Given the description of an element on the screen output the (x, y) to click on. 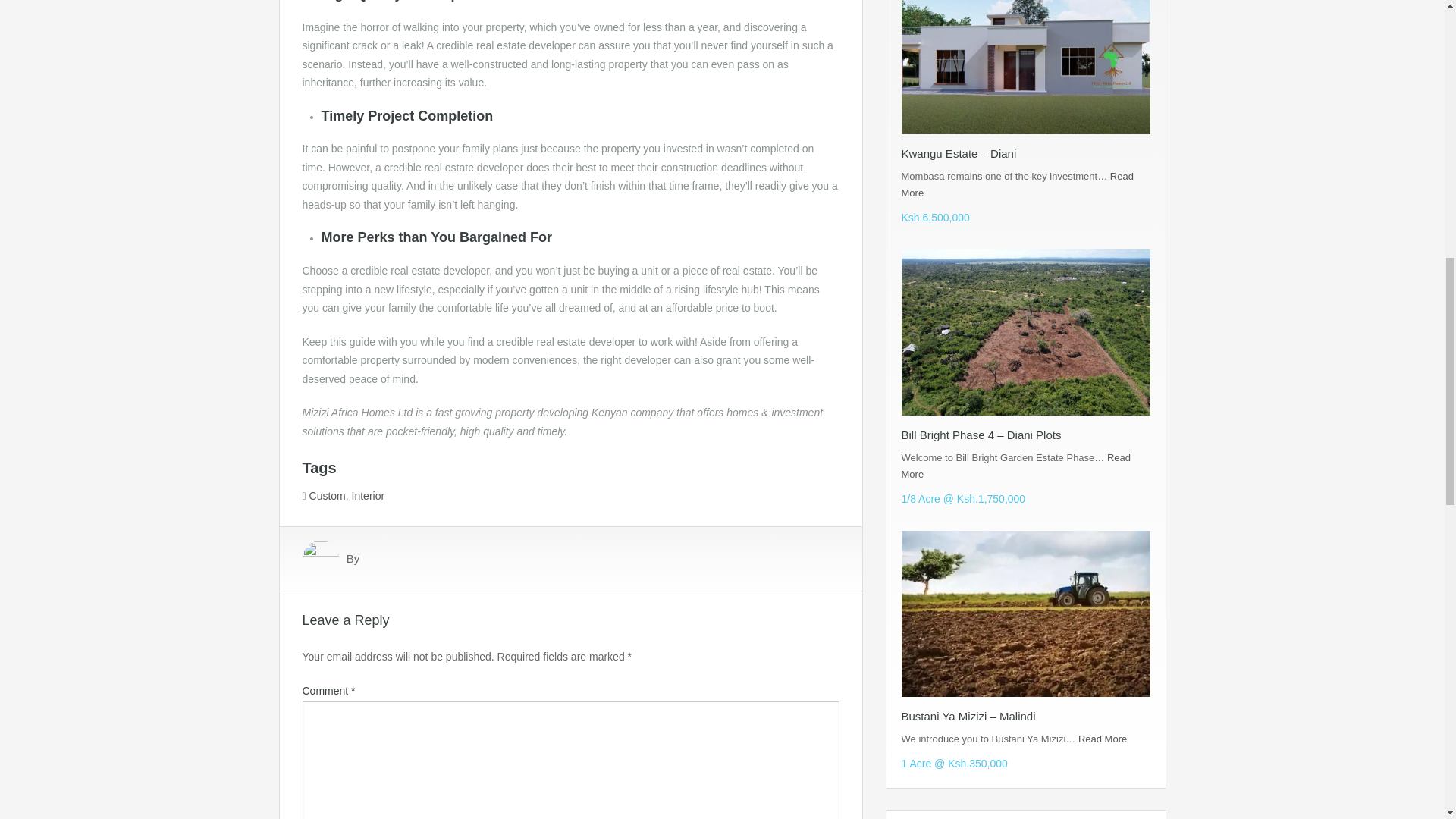
Interior (368, 495)
Custom (327, 495)
Read More (1016, 184)
